Given the description of an element on the screen output the (x, y) to click on. 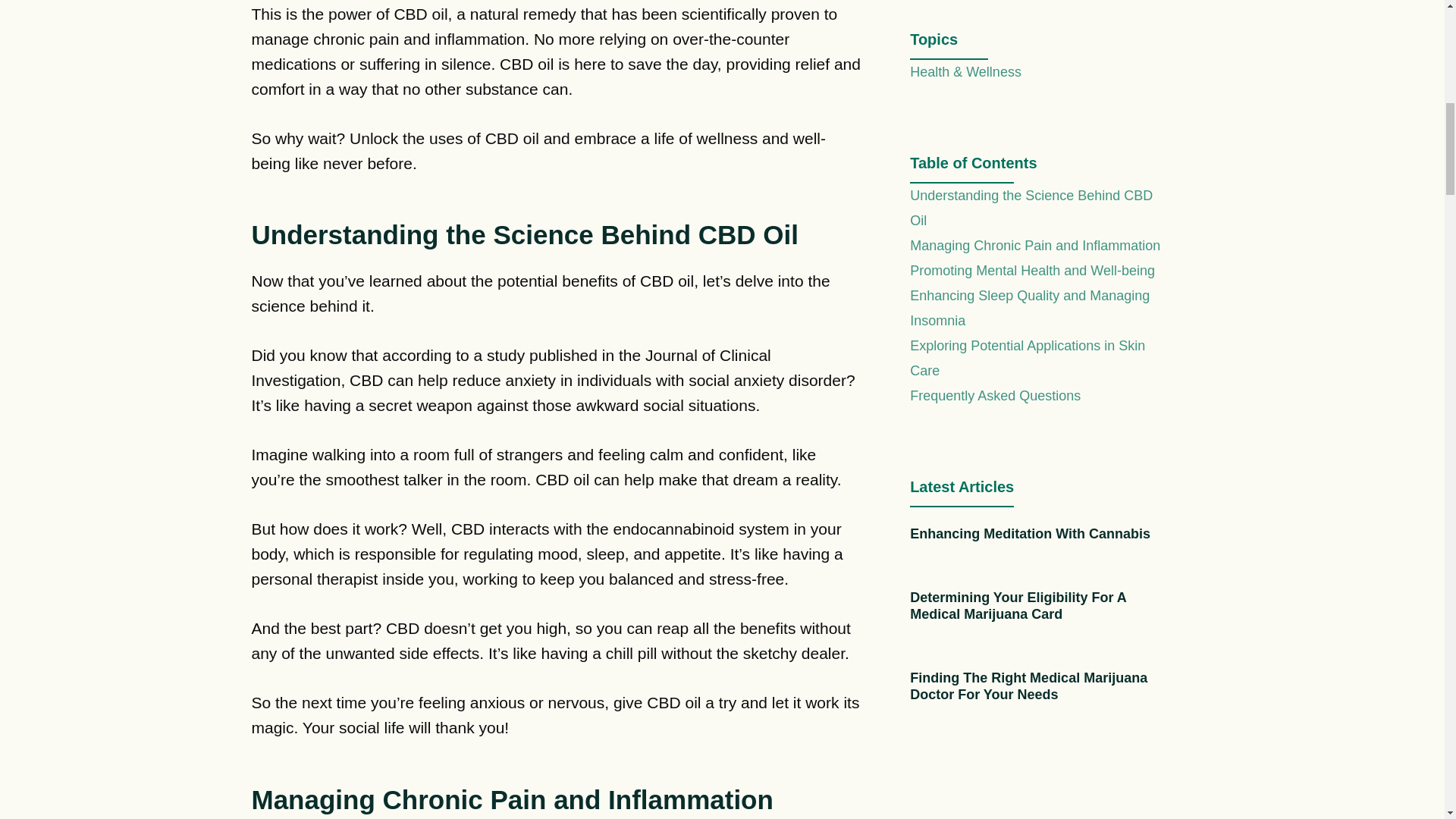
Managing Chronic Pain and Inflammation (1035, 245)
Exploring Potential Applications in Skin Care (1027, 358)
Promoting Mental Health and Well-being (1032, 270)
Determining Your Eligibility For A Medical Marijuana Card (1017, 605)
Finding The Right Medical Marijuana Doctor For Your Needs (1028, 686)
Frequently Asked Questions (995, 395)
Enhancing Meditation With Cannabis (1030, 533)
Enhancing Sleep Quality and Managing Insomnia (1030, 308)
Understanding the Science Behind CBD Oil (1031, 208)
